Given the description of an element on the screen output the (x, y) to click on. 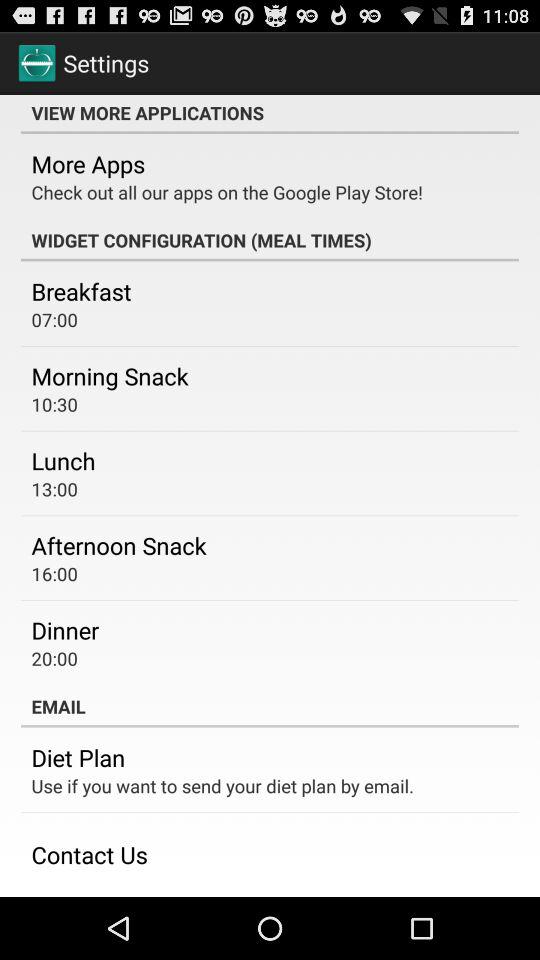
turn off the item above check out all icon (88, 163)
